Given the description of an element on the screen output the (x, y) to click on. 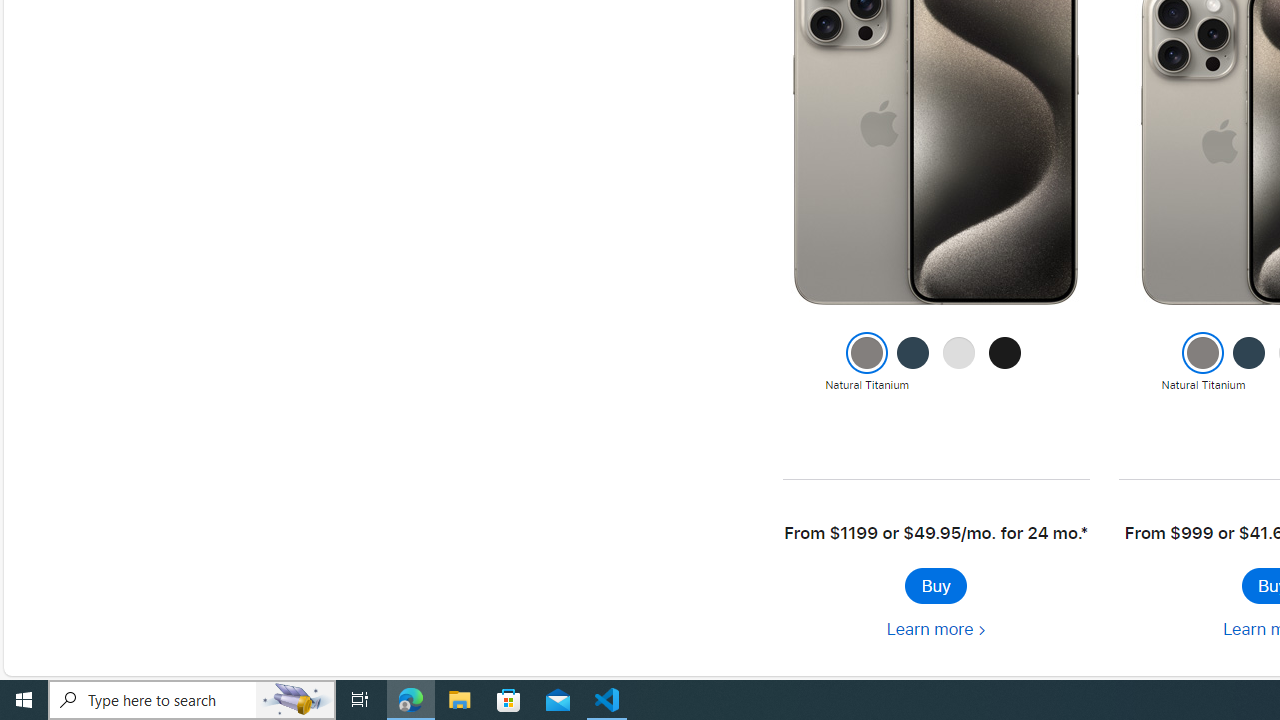
Buy iPhone 15 Pro Max (935, 585)
White Titanium (959, 363)
Black Titanium (1005, 363)
Natural Titanium (1202, 363)
Learn more about iPhone 15 Pro Max (935, 629)
Blue Titanium (1249, 363)
Class: colornav-link (1249, 353)
Footnote * symbol (1084, 533)
Class: colornav-link current (1202, 353)
